Given the description of an element on the screen output the (x, y) to click on. 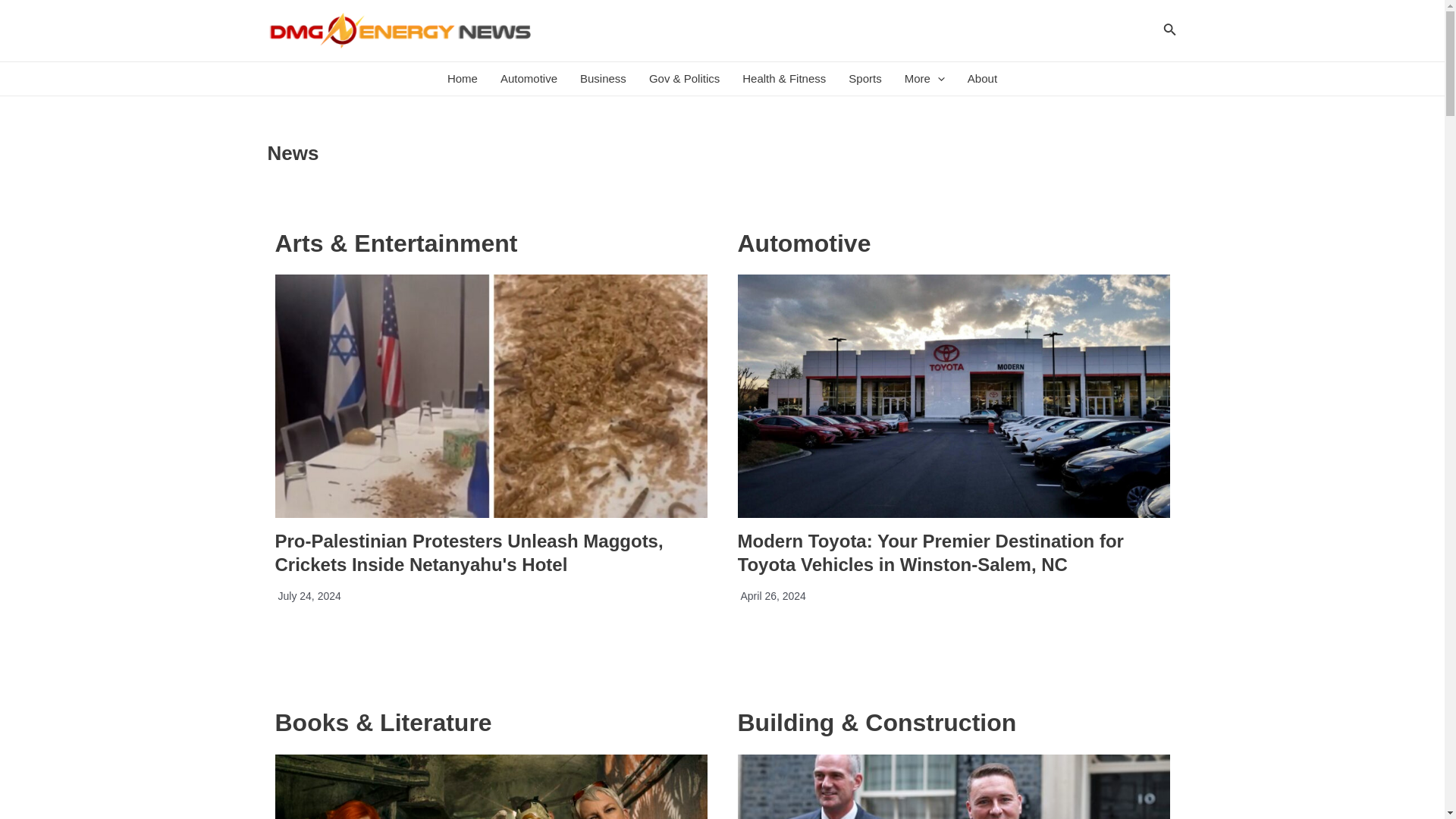
Home (462, 78)
About (982, 78)
More (924, 78)
Automotive (529, 78)
Business (603, 78)
Sports (864, 78)
